Given the description of an element on the screen output the (x, y) to click on. 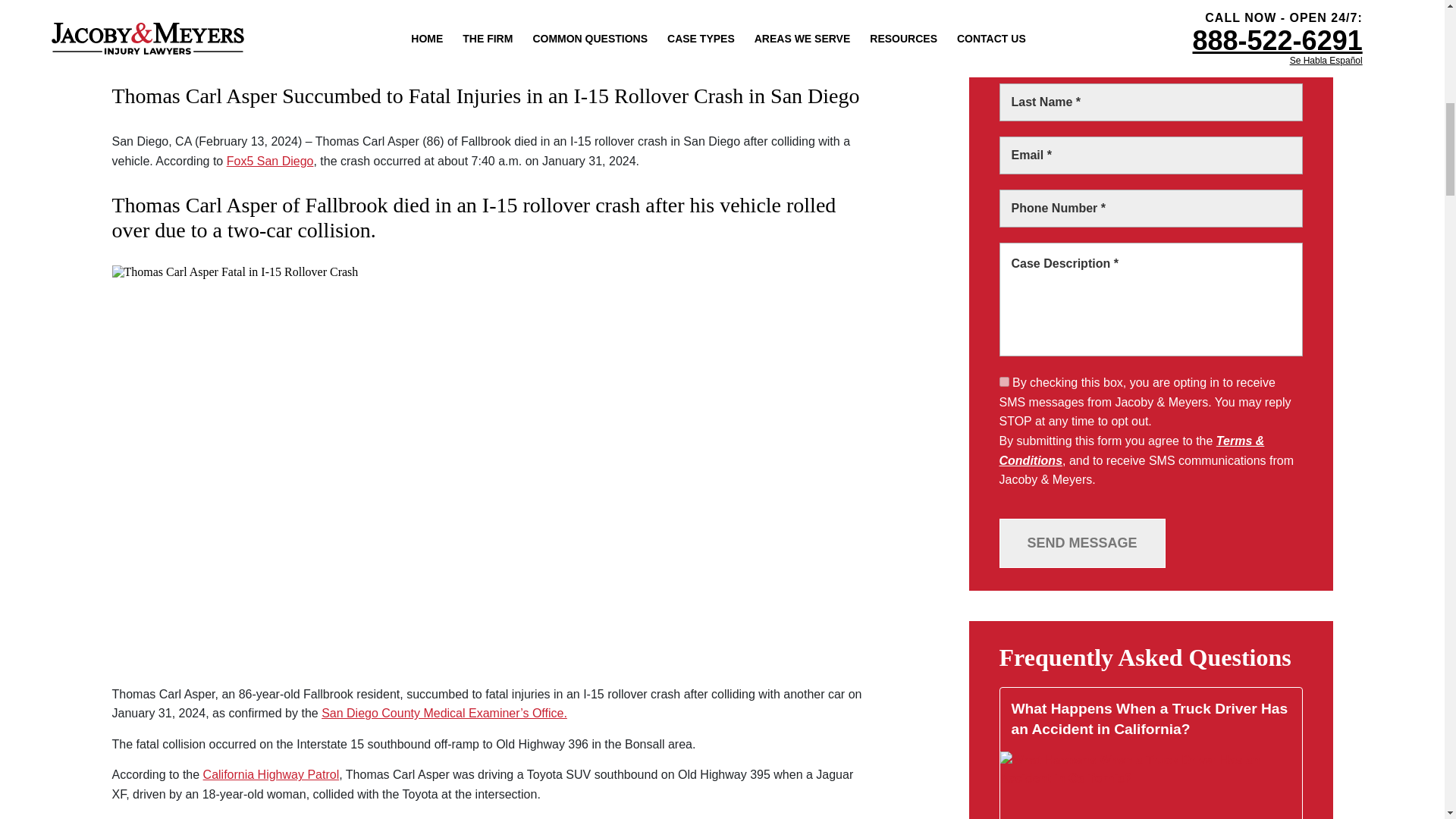
Send Message (1082, 543)
